Given the description of an element on the screen output the (x, y) to click on. 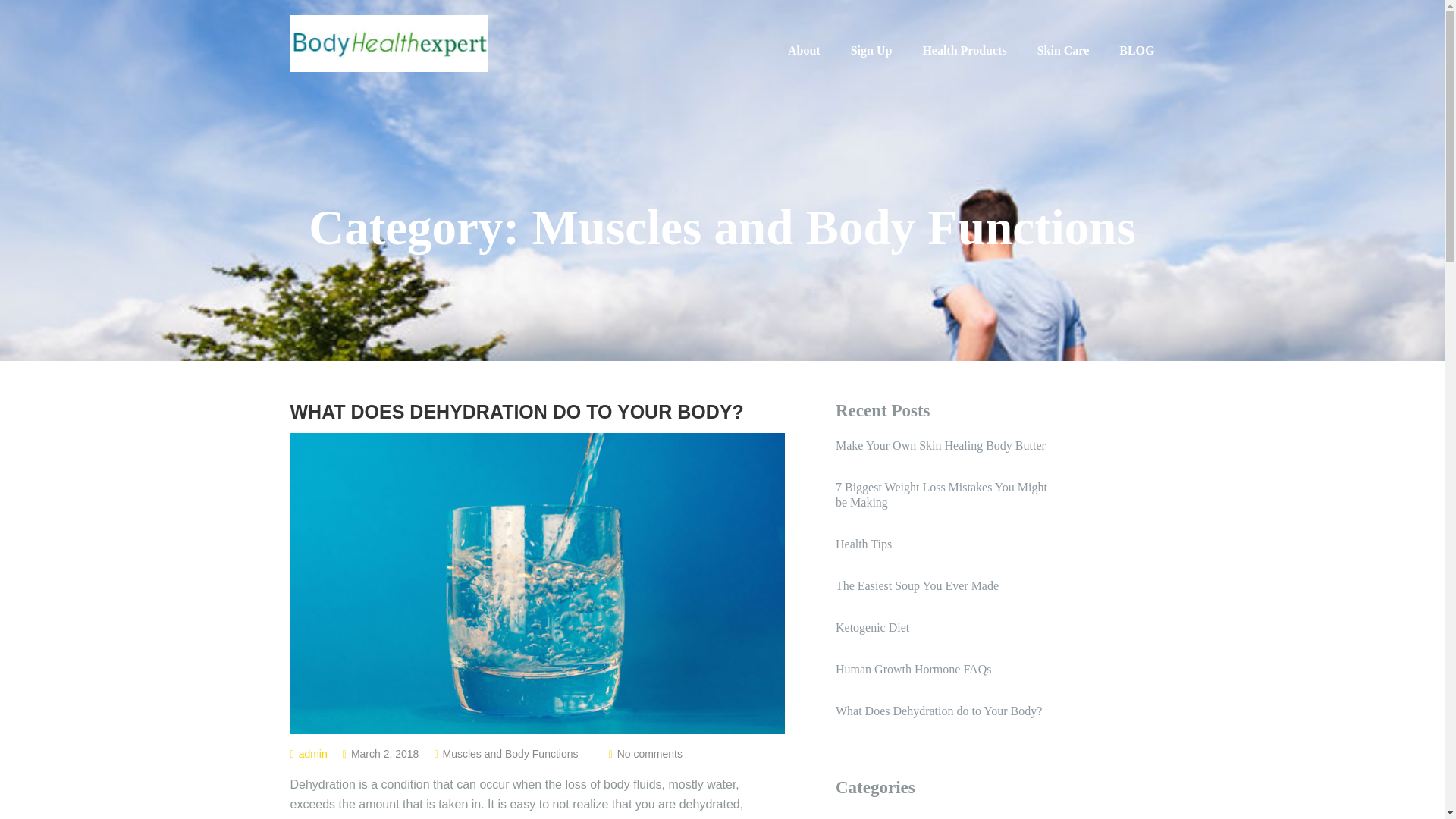
Health Tips (943, 544)
The Easiest Soup You Ever Made (943, 585)
BLOG (1136, 50)
What Does Dehydration do to Your Body? (536, 411)
Health Products (963, 50)
Human Growth Hormone FAQs (943, 669)
Skin Care (1062, 50)
7 Biggest Weight Loss Mistakes You Might be Making (943, 494)
Ketogenic Diet (943, 627)
About (804, 50)
